Given the description of an element on the screen output the (x, y) to click on. 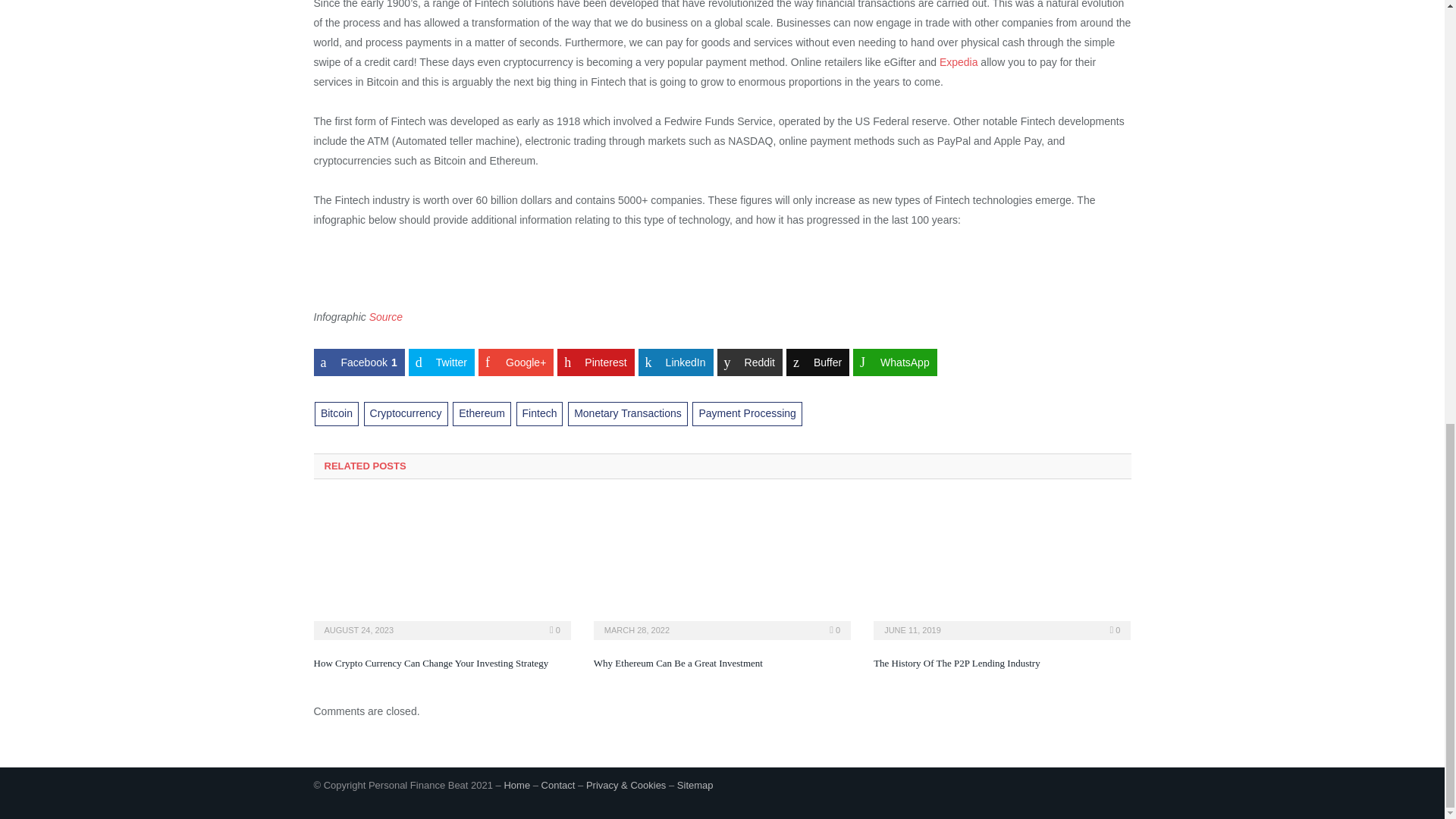
Expedia (958, 61)
Facebook1 (359, 361)
Source (386, 316)
